Given the description of an element on the screen output the (x, y) to click on. 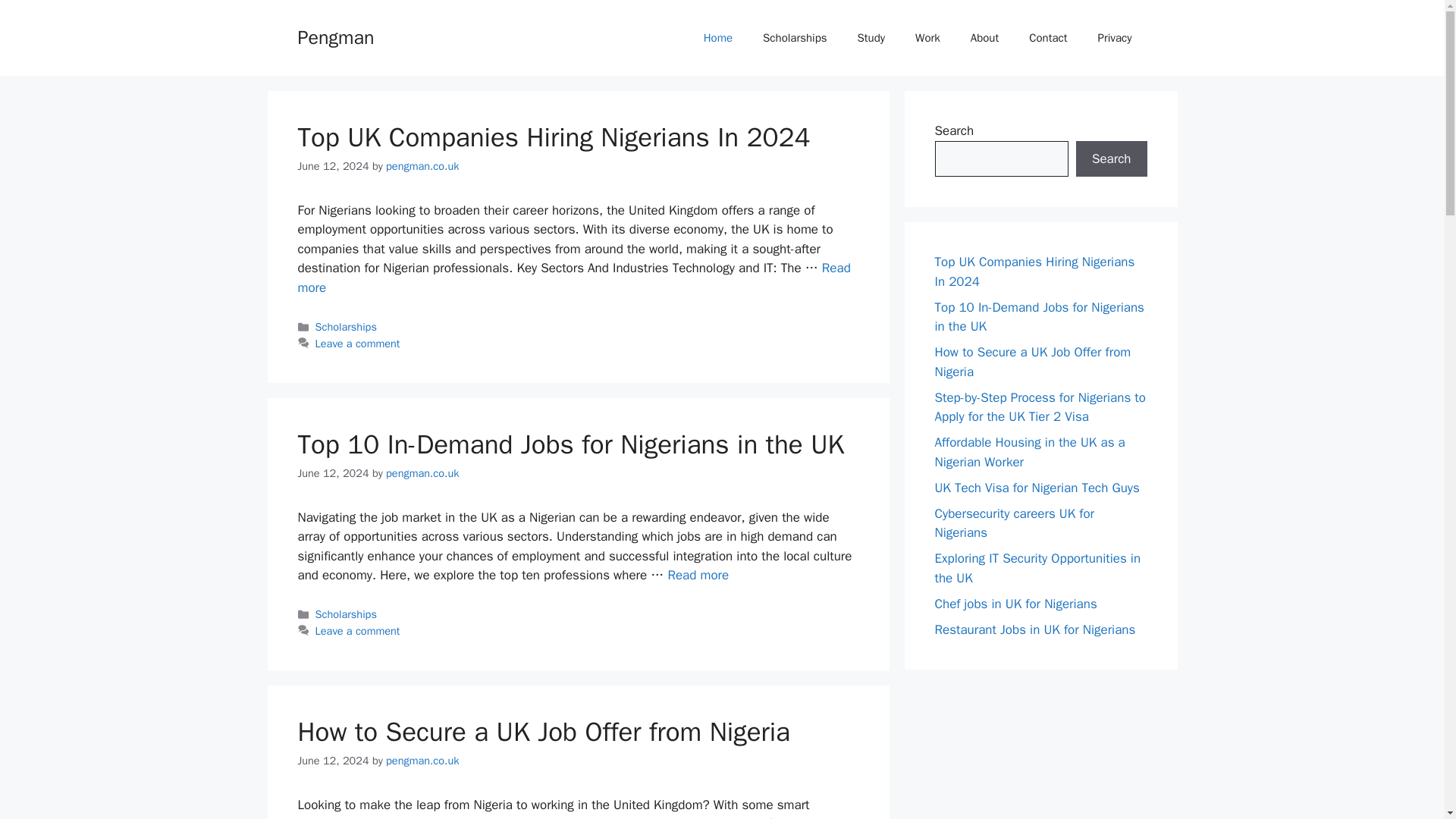
Top UK Companies Hiring Nigerians In 2024 (573, 277)
Leave a comment (357, 631)
Leave a comment (357, 343)
Read more (697, 575)
pengman.co.uk (421, 760)
About (984, 37)
pengman.co.uk (421, 165)
Top 10 In-Demand Jobs for Nigerians in the UK (570, 444)
Scholarships (346, 613)
View all posts by pengman.co.uk (421, 472)
Read more (573, 277)
View all posts by pengman.co.uk (421, 165)
Contact (1047, 37)
How to Secure a UK Job Offer from Nigeria (543, 731)
Scholarships (794, 37)
